Given the description of an element on the screen output the (x, y) to click on. 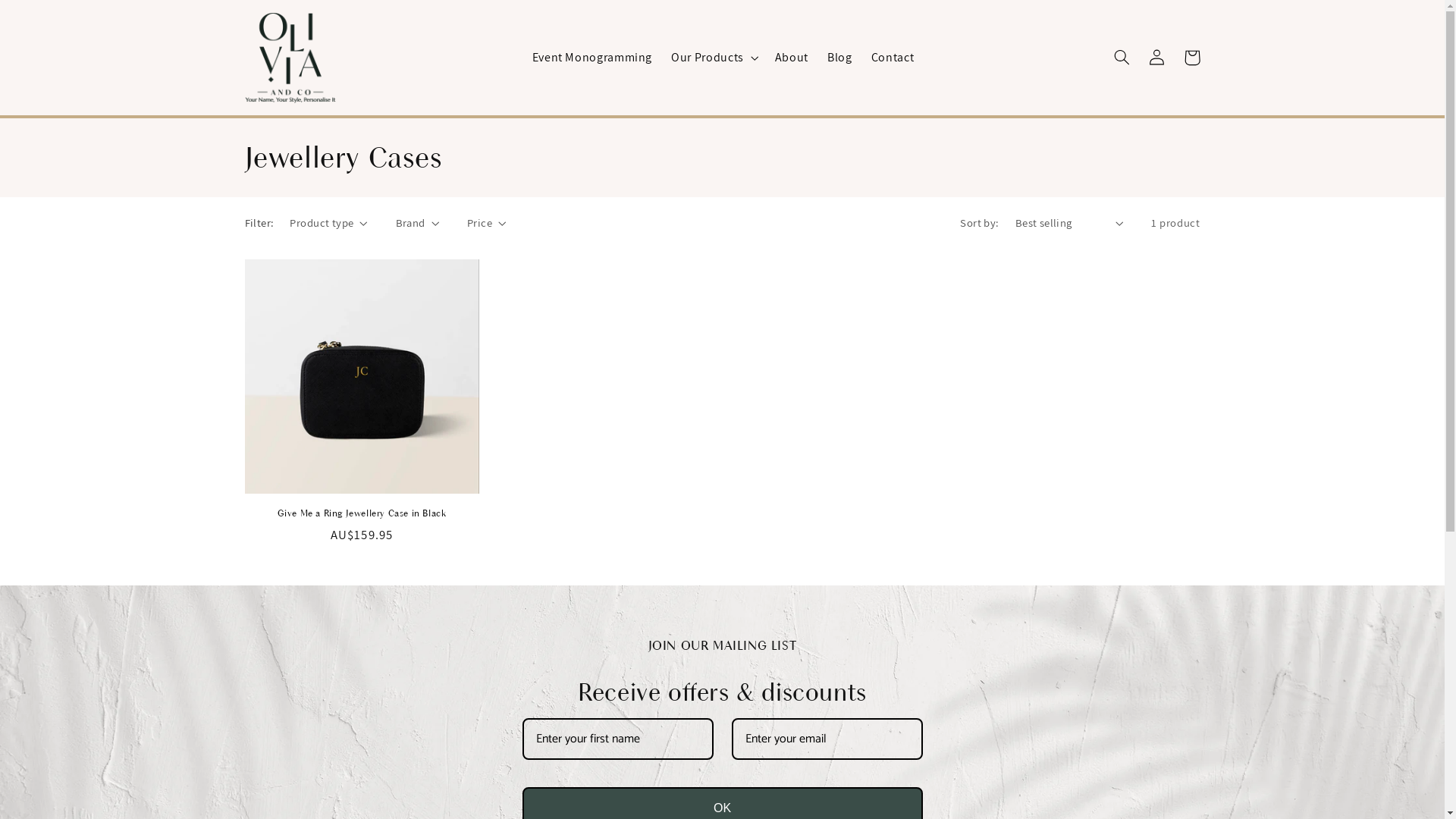
Contact Element type: text (892, 57)
Our Products Element type: text (707, 57)
Event Monogramming Element type: text (592, 57)
Blog Element type: text (839, 57)
Give Me a Ring Jewellery Case in Black Element type: text (361, 513)
Log in Element type: text (1156, 57)
Cart Element type: text (1191, 57)
About Element type: text (791, 57)
